Given the description of an element on the screen output the (x, y) to click on. 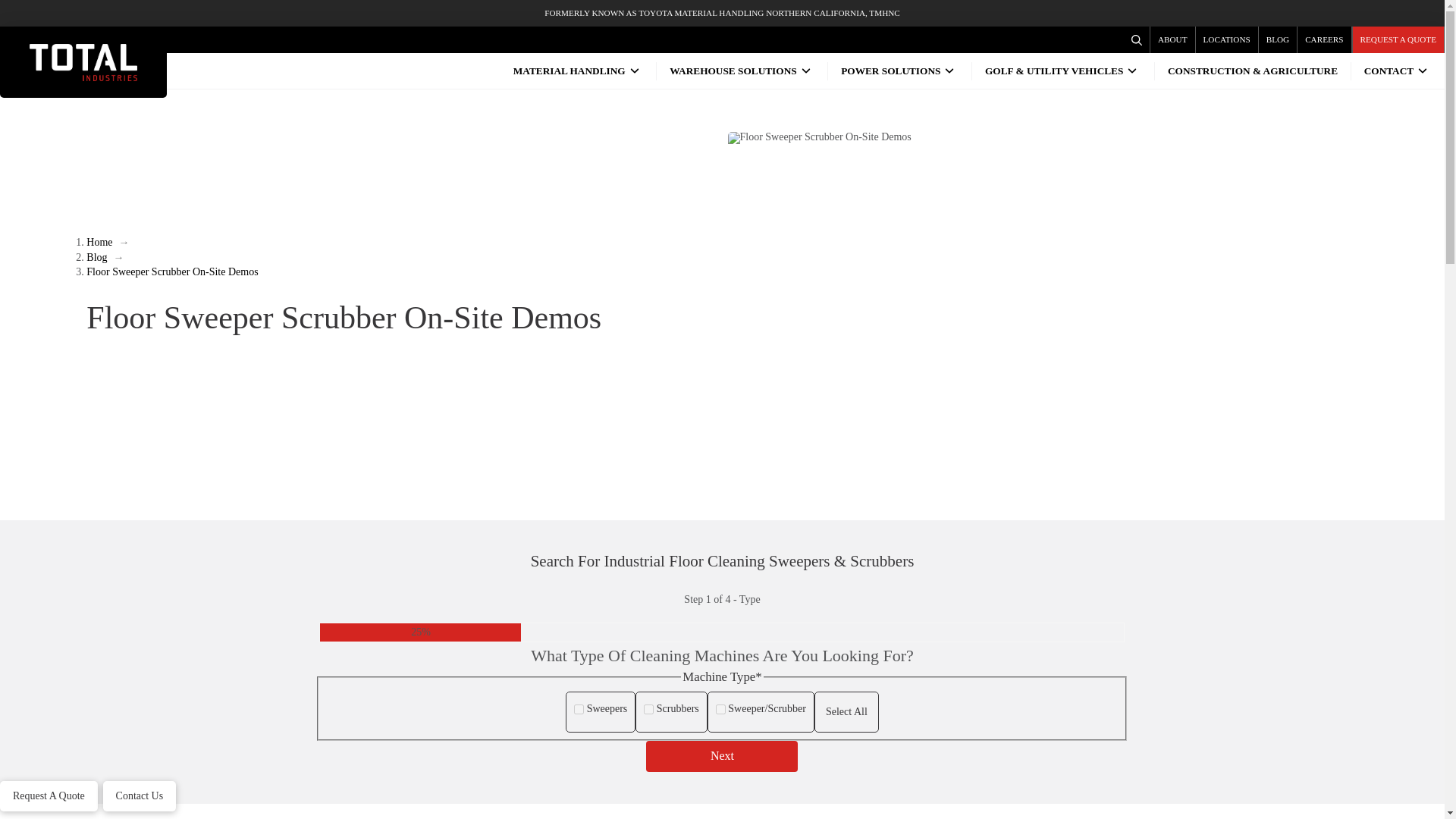
LOCATIONS (1227, 39)
Scrubbers (648, 709)
Blog (95, 256)
ABOUT (1172, 39)
POWER SOLUTIONS (899, 71)
BLOG (1278, 39)
Next (721, 756)
CAREERS (1324, 39)
Home (98, 242)
MATERIAL HANDLING (578, 71)
Sweepers (578, 709)
You Are Here (171, 271)
Select All (846, 711)
